Given the description of an element on the screen output the (x, y) to click on. 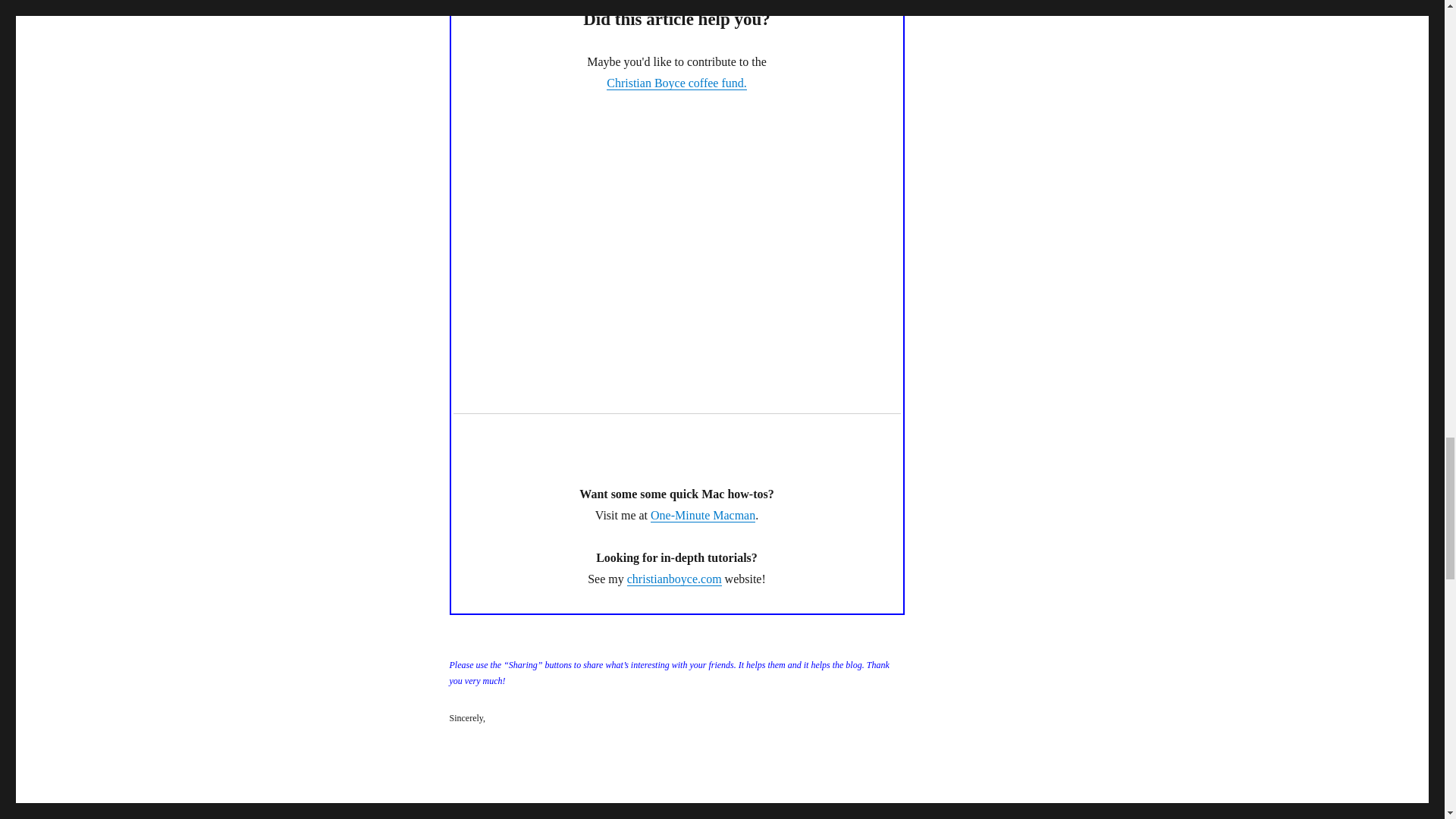
One-Minute Macman (702, 514)
Please Share; (676, 673)
christianboyce.com (674, 578)
Christian Boyce coffee fund. (676, 82)
